Given the description of an element on the screen output the (x, y) to click on. 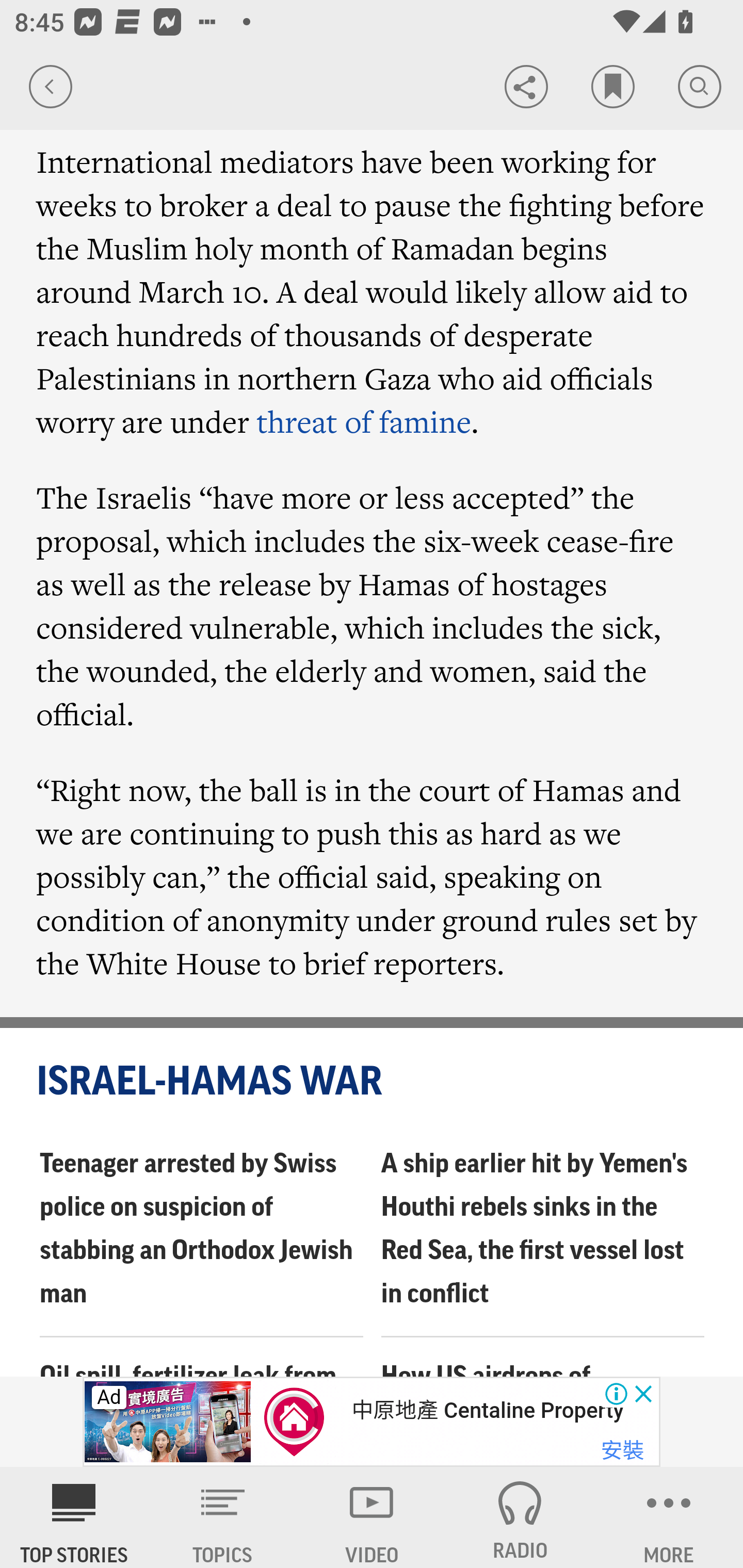
threat of famine (364, 421)
ISRAEL-HAMAS WAR (372, 1081)
中原地產 Centaline Property (486, 1410)
安裝 (621, 1450)
AP News TOP STORIES (74, 1517)
TOPICS (222, 1517)
VIDEO (371, 1517)
RADIO (519, 1517)
MORE (668, 1517)
